Given the description of an element on the screen output the (x, y) to click on. 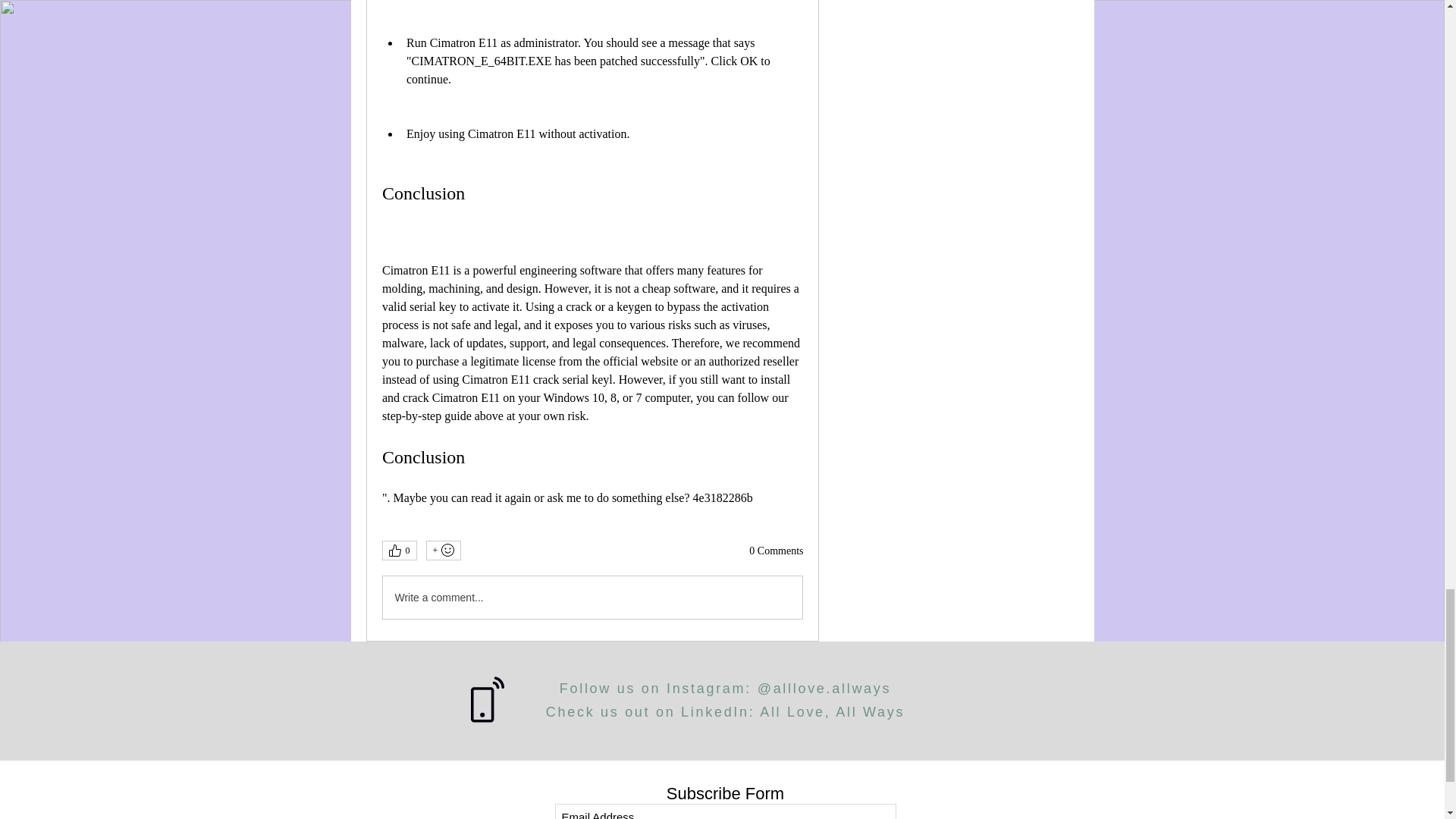
0 Comments (776, 550)
Write a comment... (591, 597)
